Given the description of an element on the screen output the (x, y) to click on. 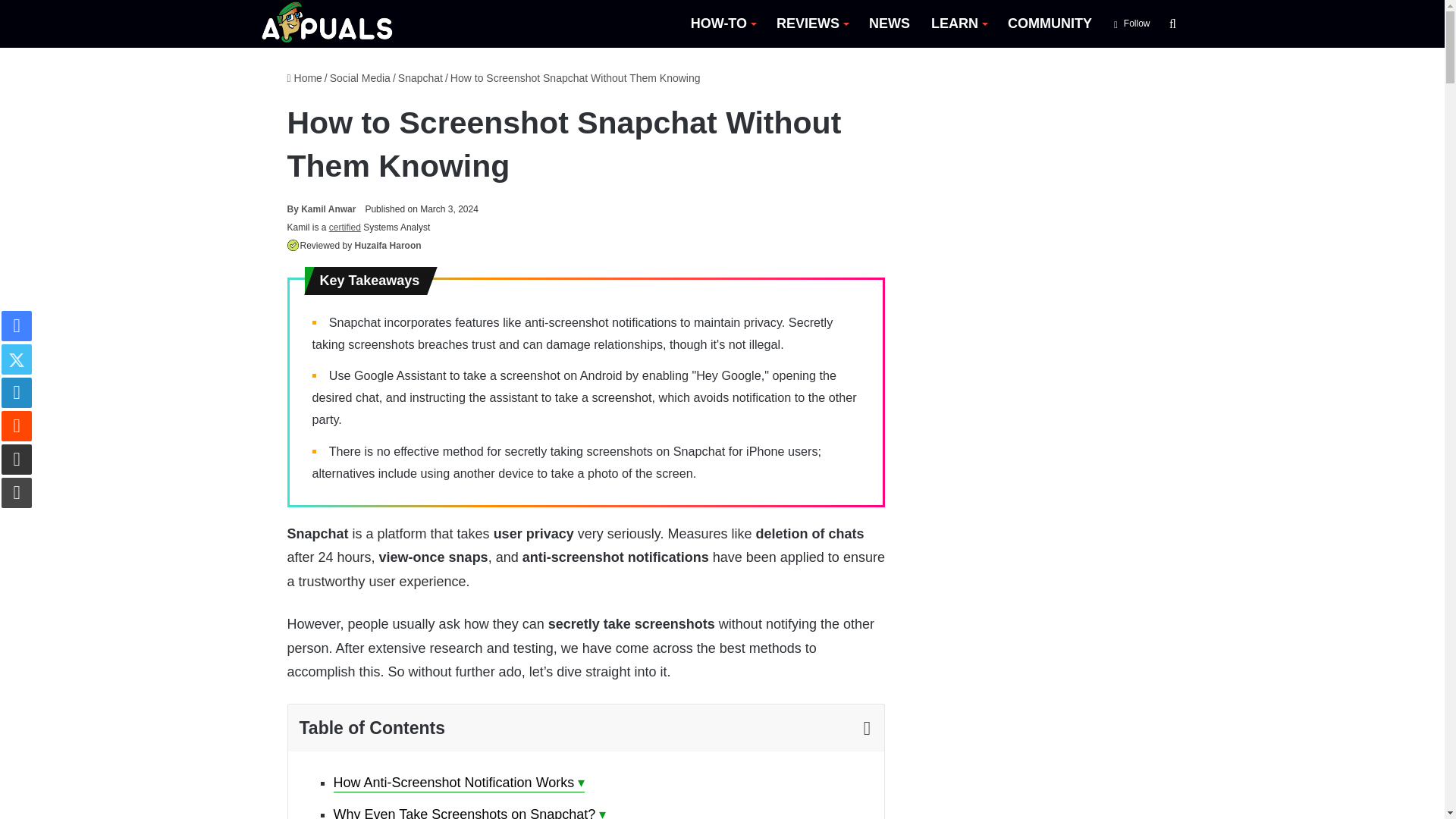
LinkedIn (16, 392)
NEWS (889, 23)
Share via Email (16, 459)
Kamil Anwar (320, 208)
Reddit (16, 426)
REVIEWS (812, 23)
LEARN (958, 23)
HOW-TO (722, 23)
Facebook (16, 326)
Appuals (327, 23)
COMMUNITY (1049, 23)
Twitter (16, 358)
Print (16, 492)
